Given the description of an element on the screen output the (x, y) to click on. 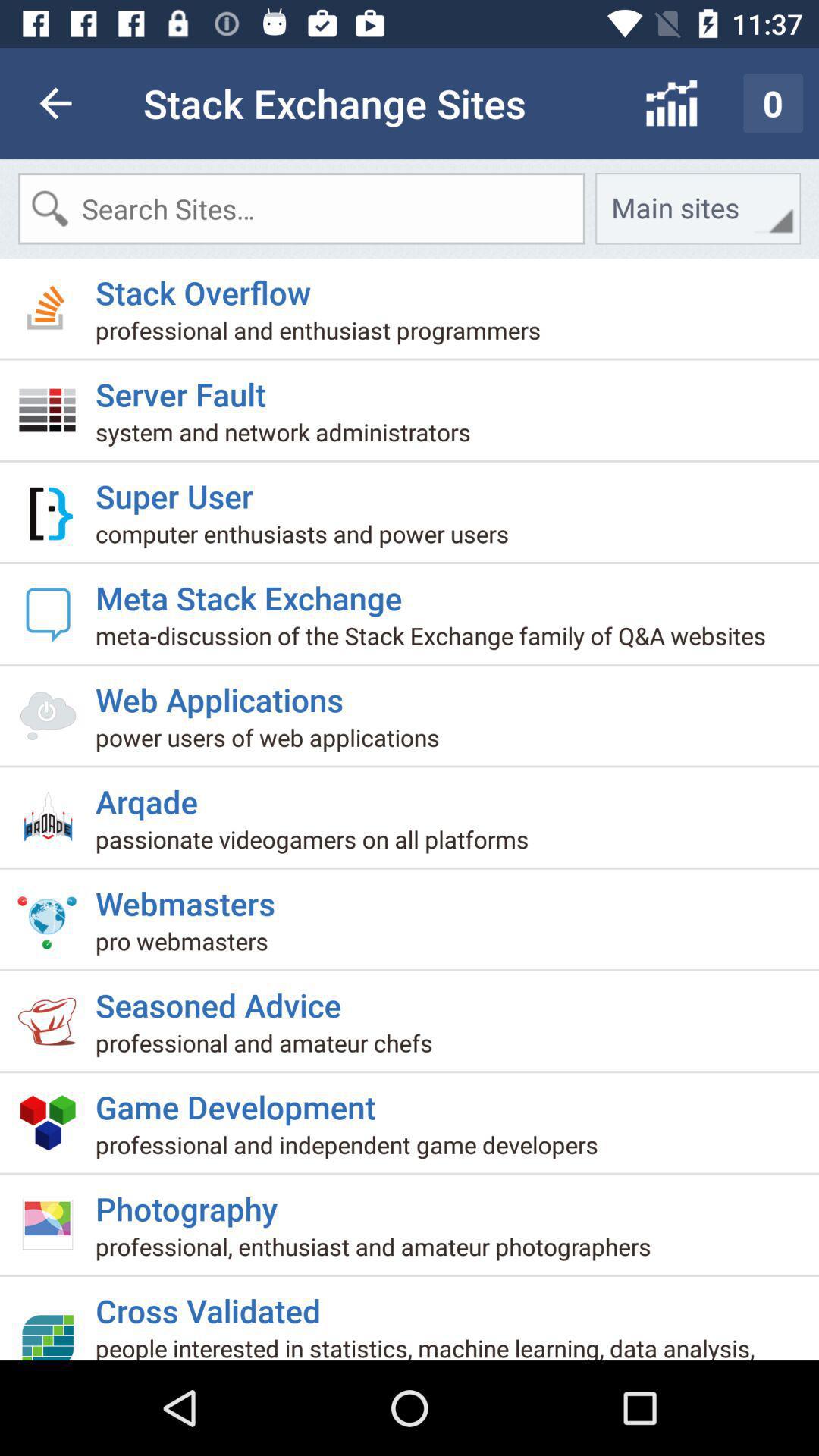
turn off item below cross validated (457, 1346)
